Given the description of an element on the screen output the (x, y) to click on. 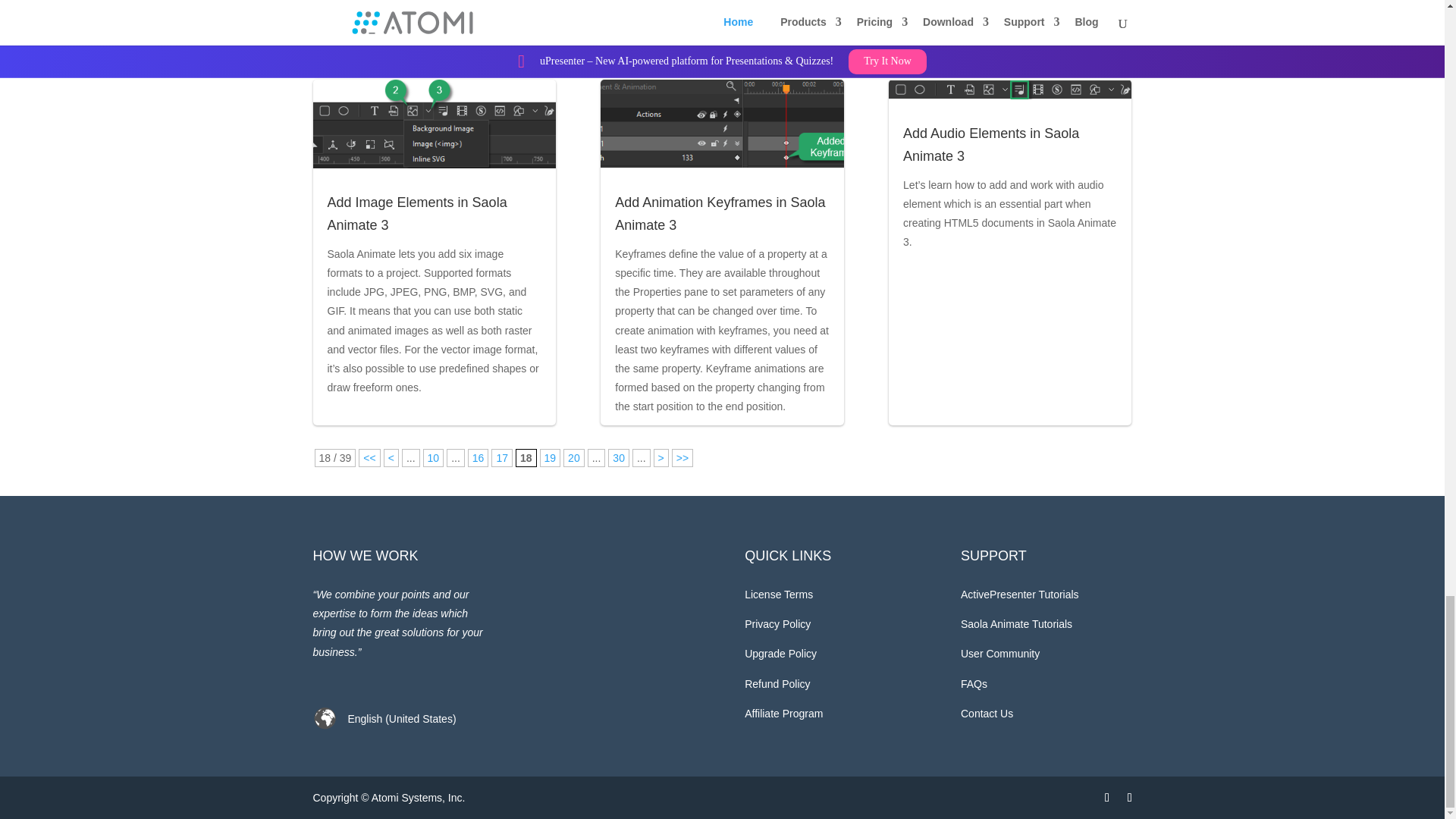
Page 10 (433, 457)
Page 19 (550, 457)
Page 16 (478, 457)
Page 20 (574, 457)
Page 30 (618, 457)
Page 17 (502, 457)
